Given the description of an element on the screen output the (x, y) to click on. 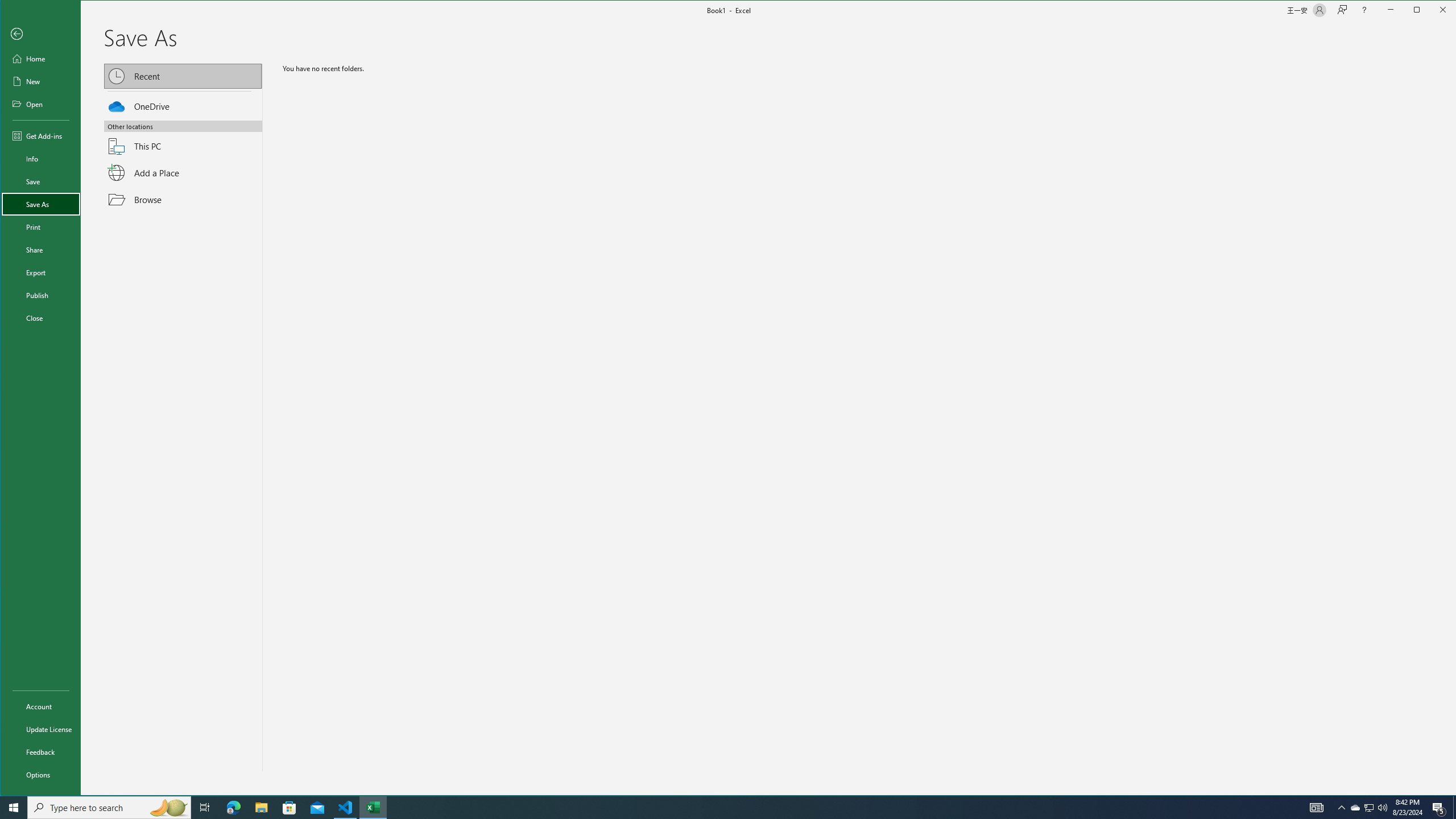
User Promoted Notification Area (1368, 807)
Save (40, 181)
Feedback (40, 751)
Microsoft Store (289, 807)
